Given the description of an element on the screen output the (x, y) to click on. 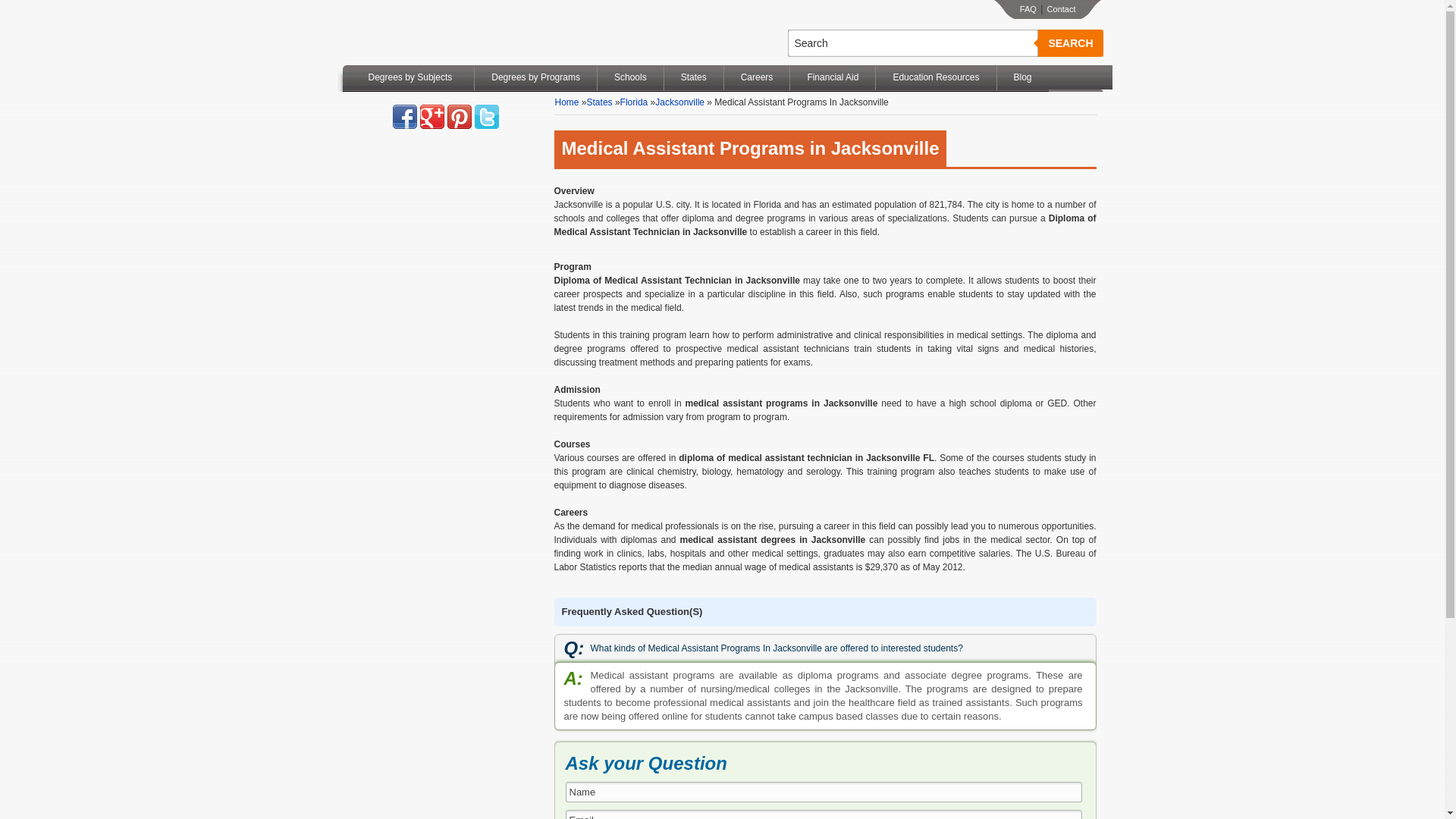
FAQ (1027, 8)
States (693, 77)
Online Education Programs (422, 32)
Careers (756, 77)
SEARCH (1070, 42)
Schools (629, 77)
Find us on facebook (404, 116)
Find us on pinterest (458, 116)
Find us on twitter (486, 116)
Degrees by Subjects (410, 77)
Name (823, 792)
Email (823, 814)
Degrees by Programs (535, 77)
Contact (1061, 8)
